Given the description of an element on the screen output the (x, y) to click on. 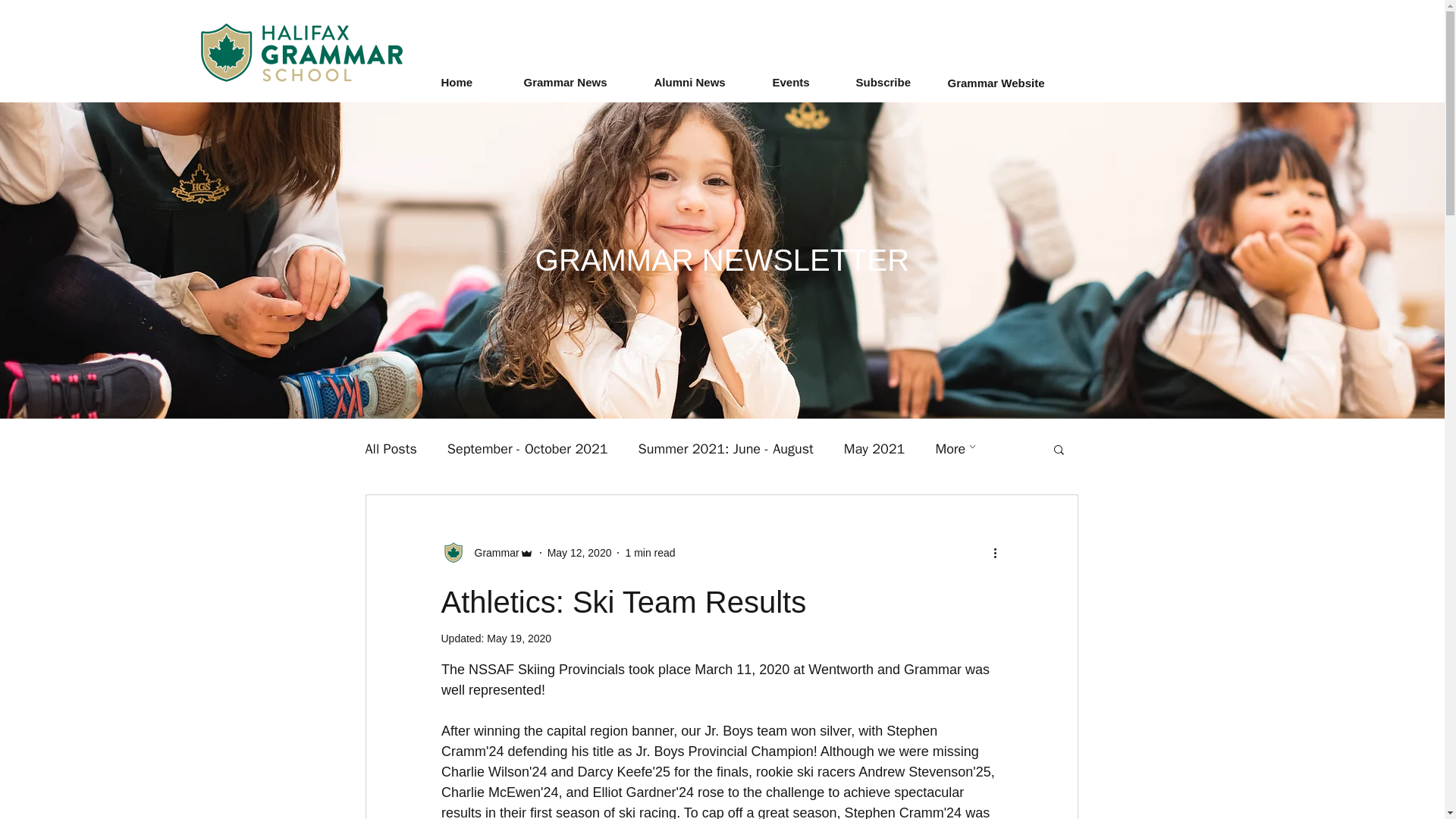
May 2021 (874, 448)
Subscribe (897, 82)
Alumni News (705, 82)
All Posts (390, 448)
September - October 2021 (527, 448)
1 min read (649, 551)
Grammar (492, 552)
Summer 2021: June - August (726, 448)
May 12, 2020 (579, 551)
Grammar Website (996, 82)
May 19, 2020 (518, 638)
Grammar News (580, 82)
Events (805, 82)
Home (474, 82)
